Given the description of an element on the screen output the (x, y) to click on. 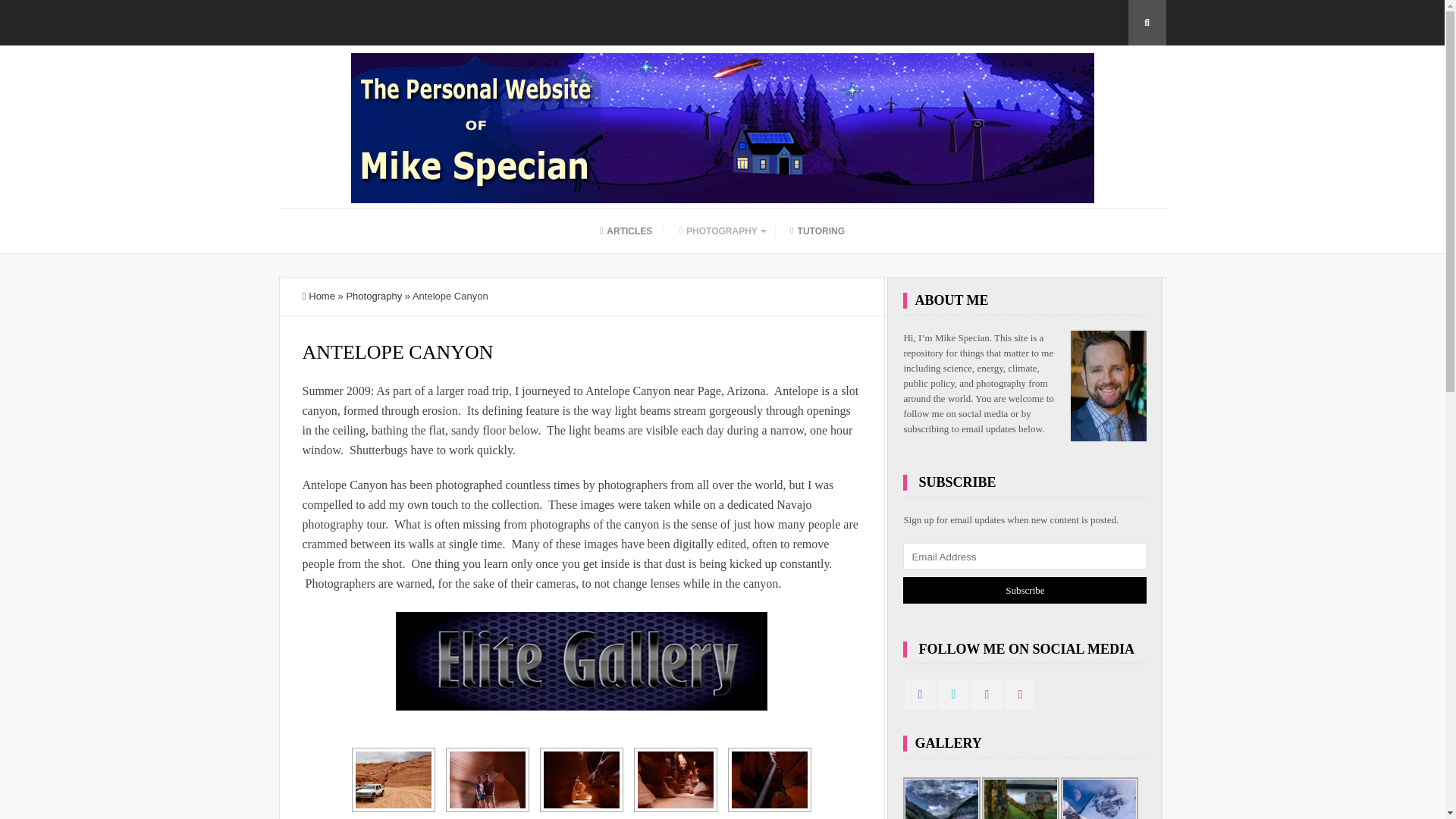
Subscribe (1024, 590)
A beam of light shines through the top of the canyon. (770, 779)
Cagg and Mike at the edge of Upper Antelope Canyon (487, 779)
